Given the description of an element on the screen output the (x, y) to click on. 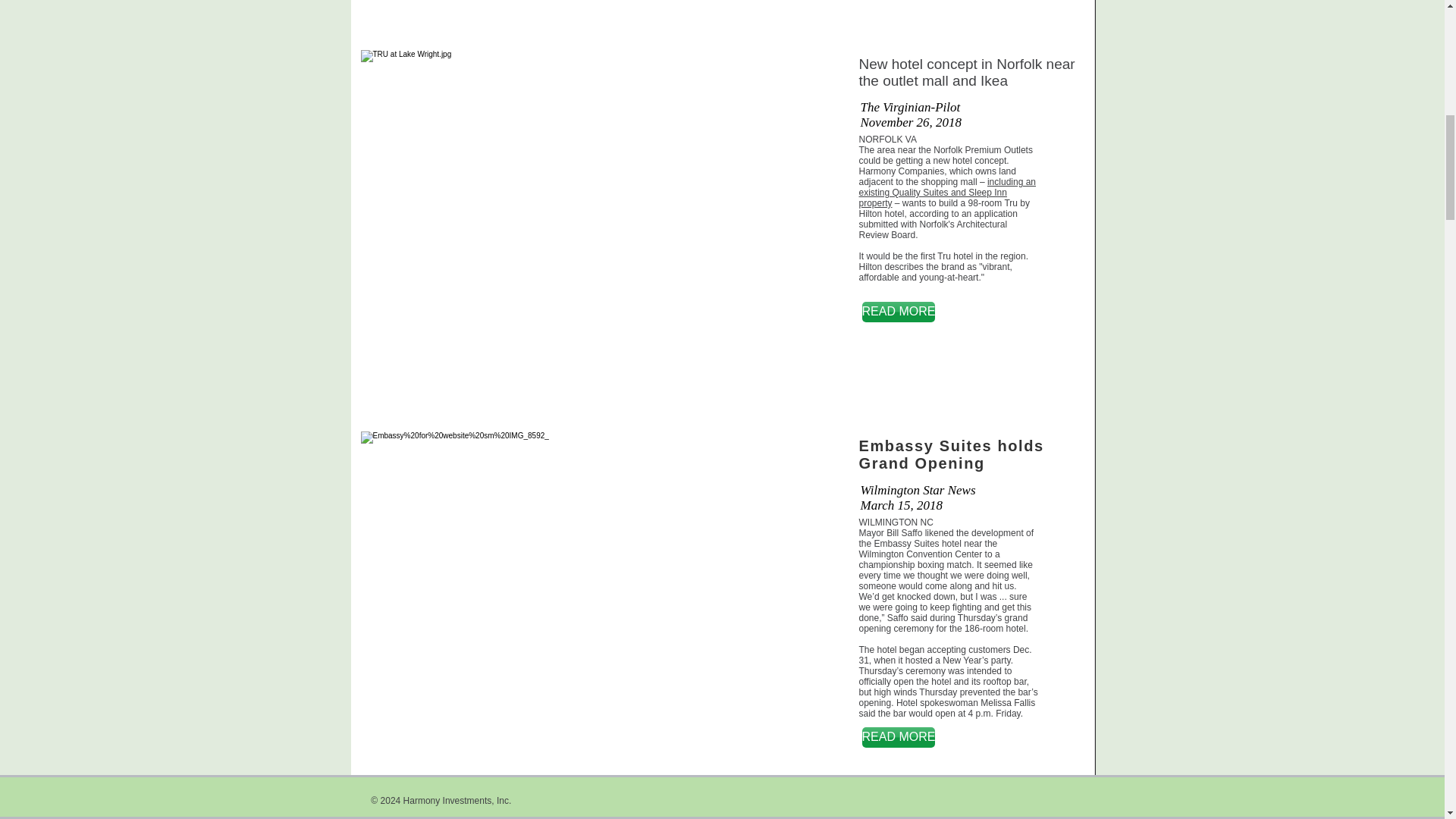
including an existing Quality Suites and Sleep Inn property (947, 192)
READ MORE (897, 312)
READ MORE (897, 737)
